Given the description of an element on the screen output the (x, y) to click on. 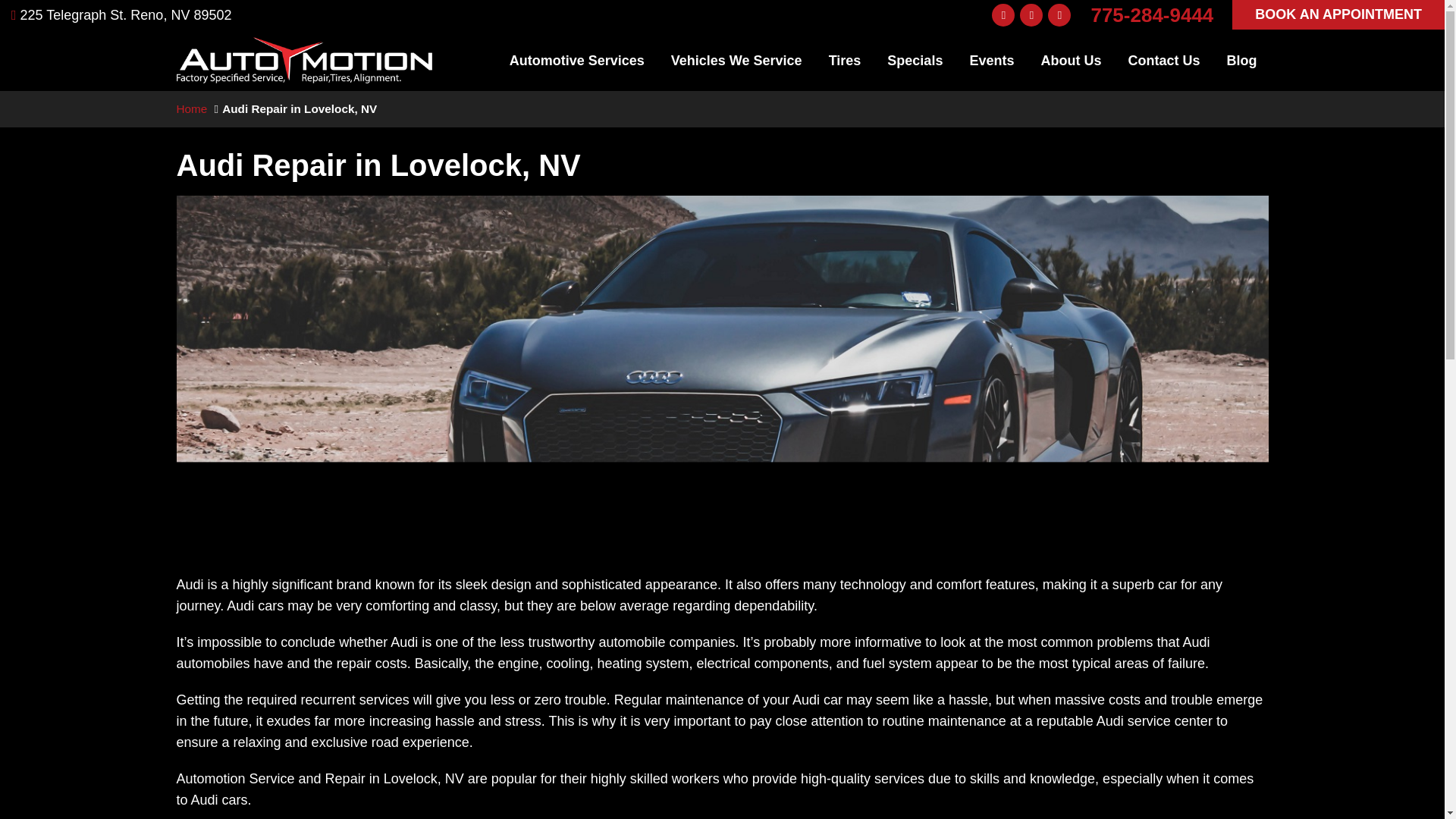
Vehicles We Service (736, 60)
BOOK AN APPOINTMENT (1337, 14)
Go to Automotion. (191, 108)
775-284-9444 (1151, 14)
Automotion (304, 47)
Automotive Services (576, 60)
